Given the description of an element on the screen output the (x, y) to click on. 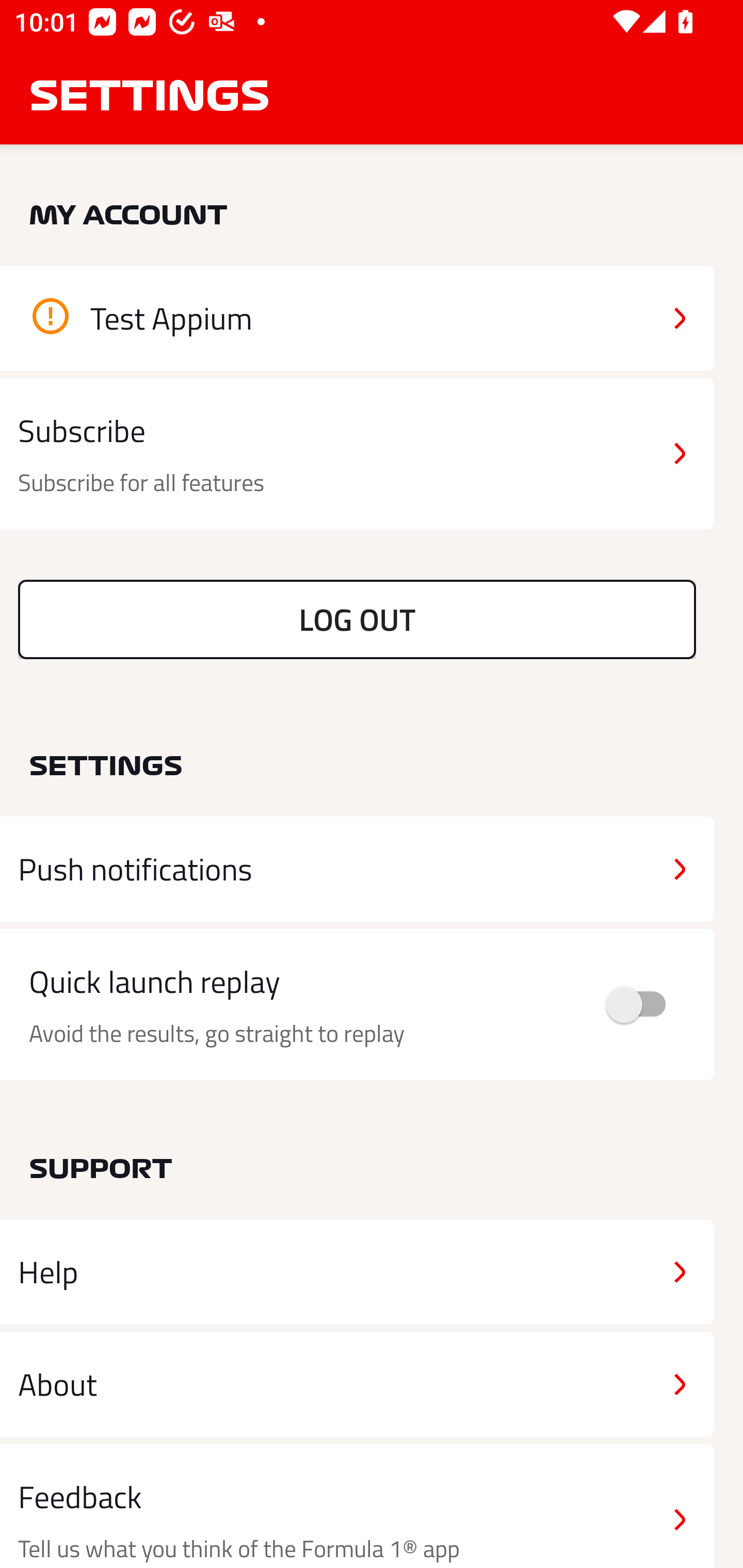
Test Appium (357, 317)
Subscribe Subscribe for all features (357, 453)
LOG OUT (356, 619)
Push notifications (357, 868)
Help (357, 1271)
About (357, 1383)
